Given the description of an element on the screen output the (x, y) to click on. 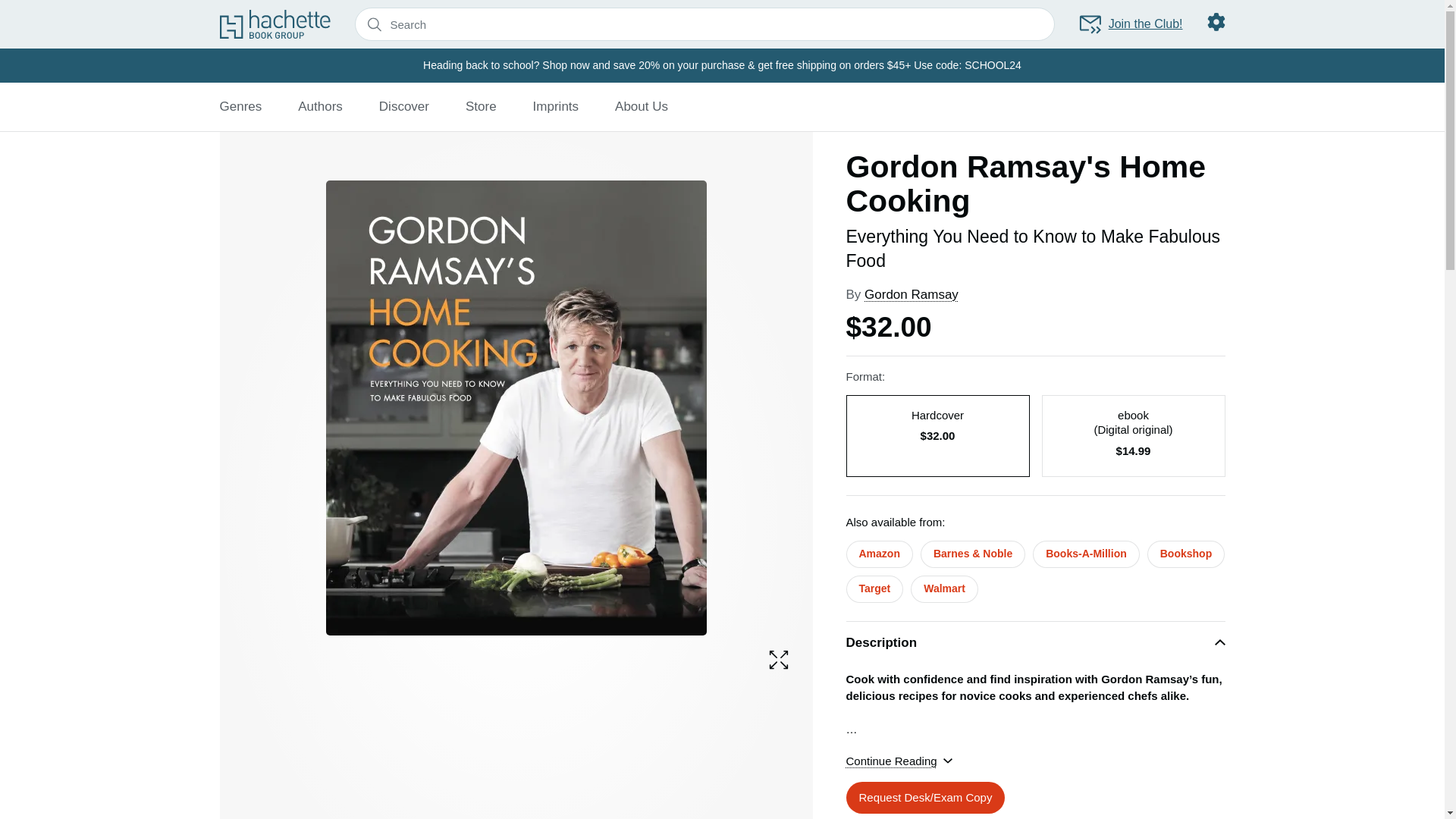
Genres (240, 106)
Go to Hachette Book Group home (274, 23)
Join the Club! (1130, 24)
